Given the description of an element on the screen output the (x, y) to click on. 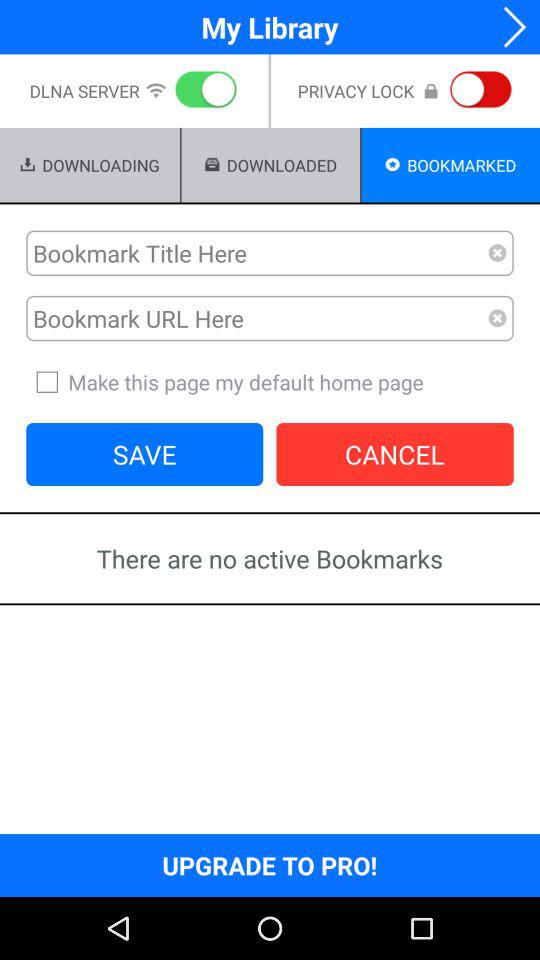
create bookmark in word (257, 253)
